Given the description of an element on the screen output the (x, y) to click on. 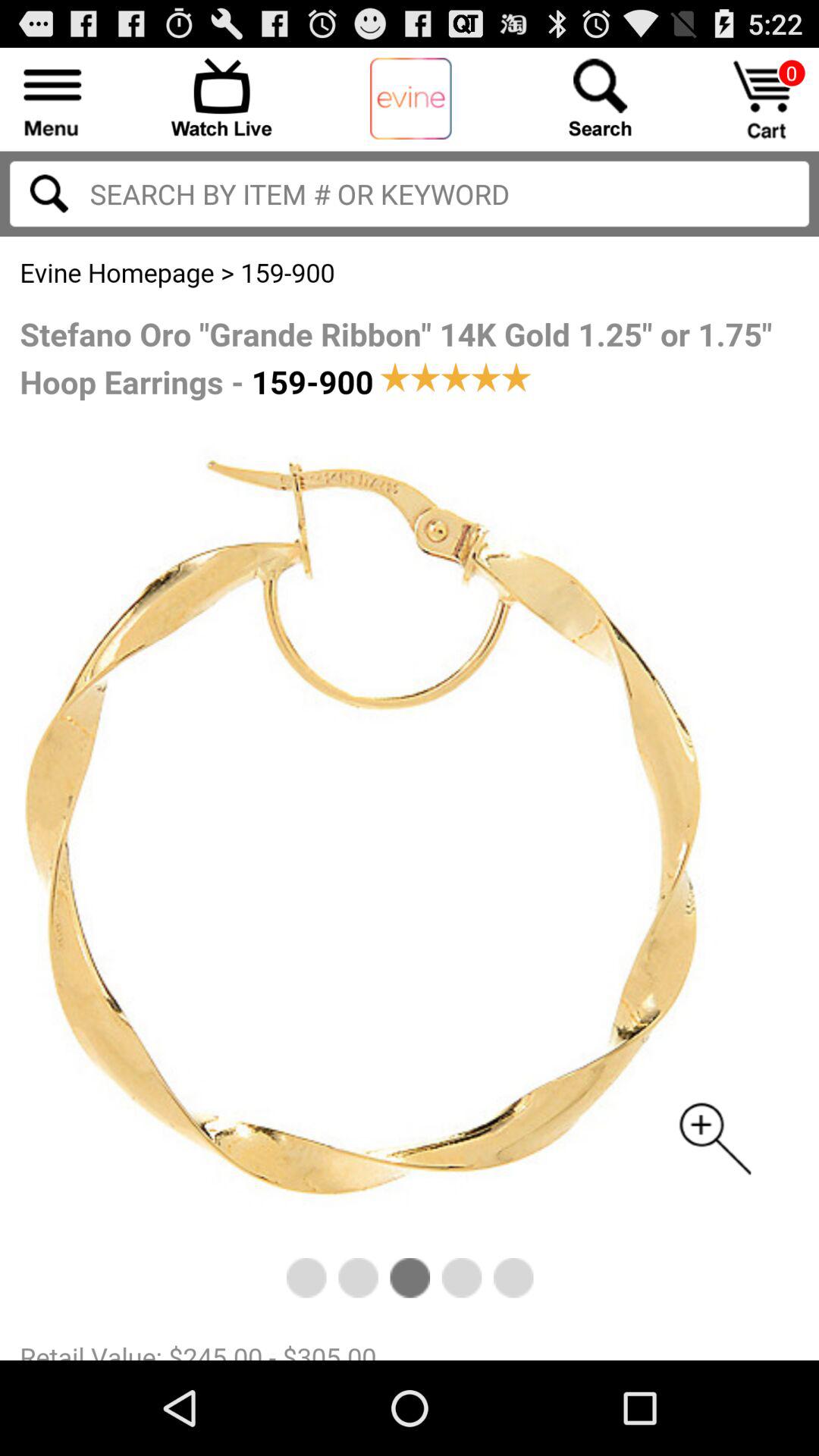
go to search (49, 193)
